Given the description of an element on the screen output the (x, y) to click on. 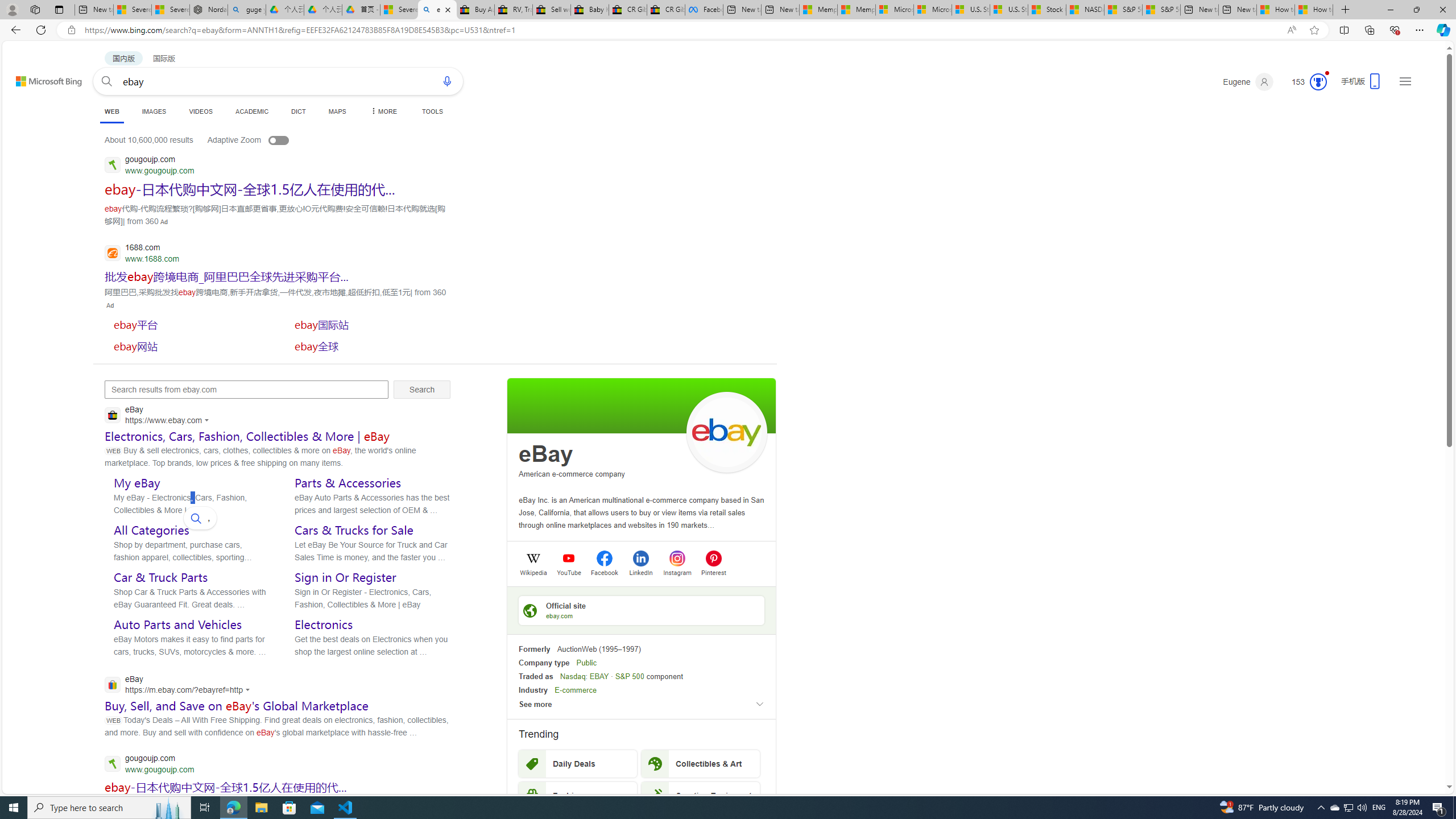
TOOLS (431, 111)
Buy, Sell, and Save on eBay's Global Marketplace (236, 705)
SERP,5715 (370, 345)
EBAY (598, 676)
TOOLS (431, 111)
Eugene (1248, 81)
ACADEMIC (252, 111)
